Given the description of an element on the screen output the (x, y) to click on. 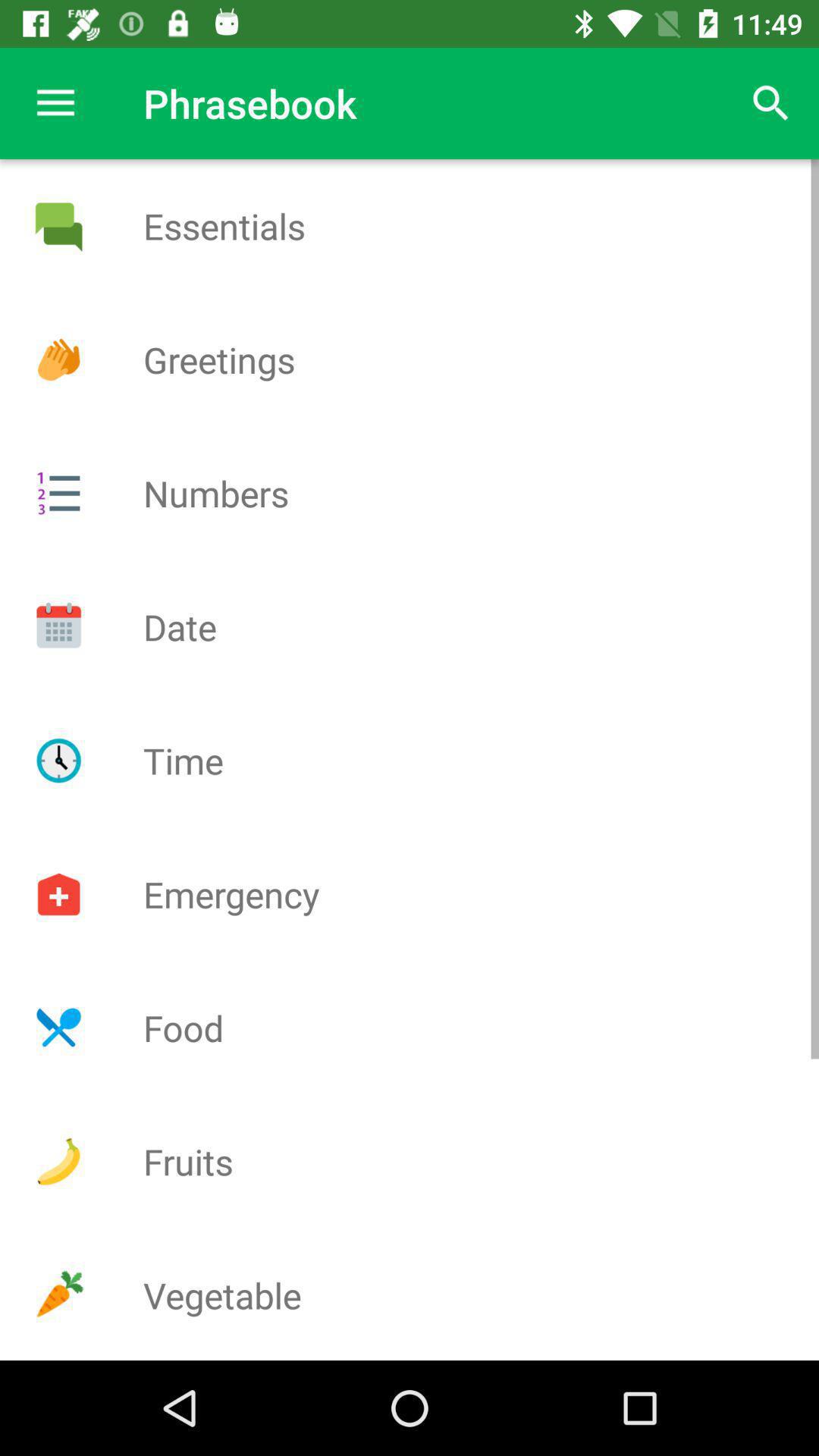
go to date (58, 627)
